Given the description of an element on the screen output the (x, y) to click on. 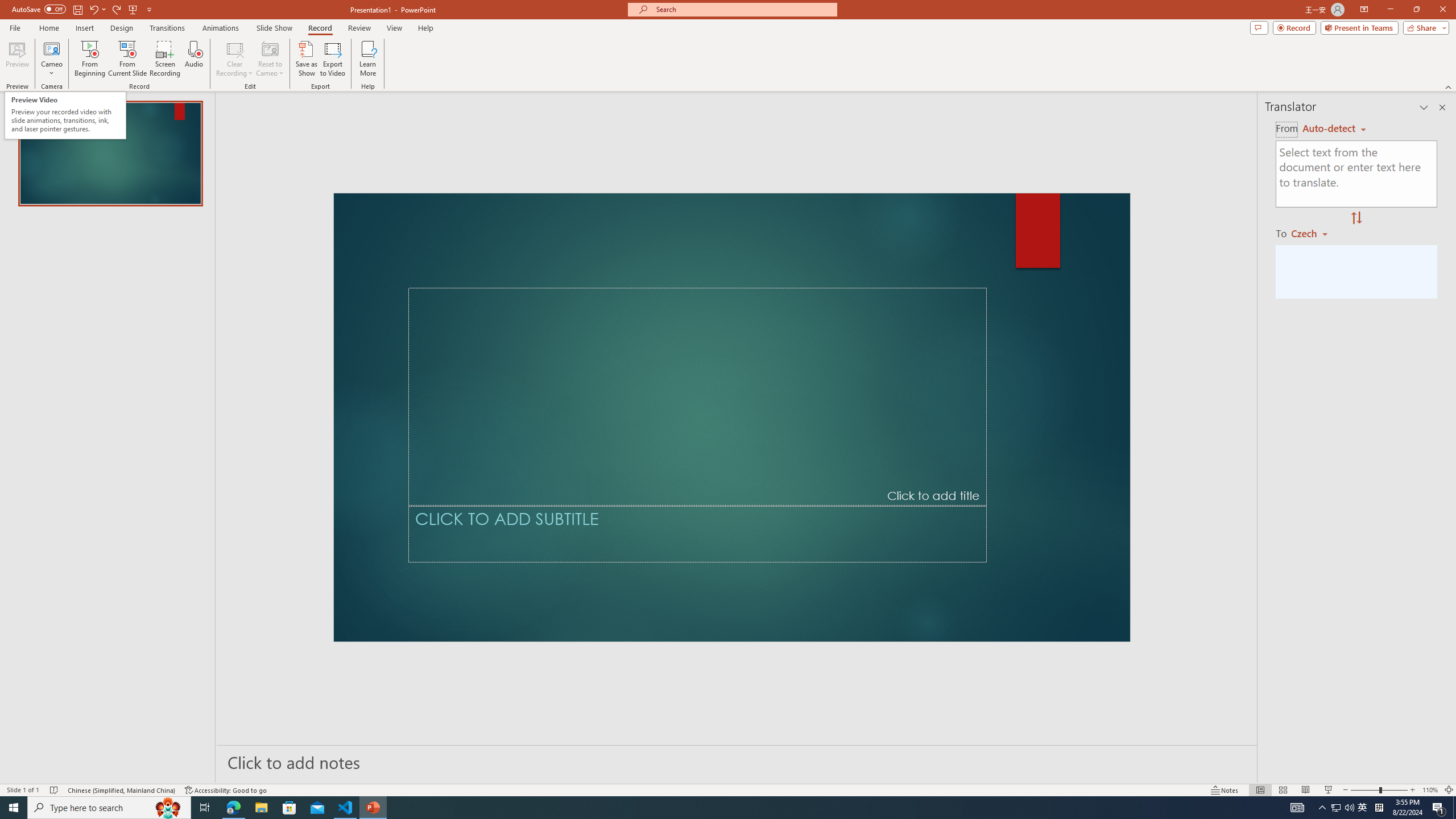
Export to Video (332, 58)
Clear Recording (234, 58)
Learn More (368, 58)
